Given the description of an element on the screen output the (x, y) to click on. 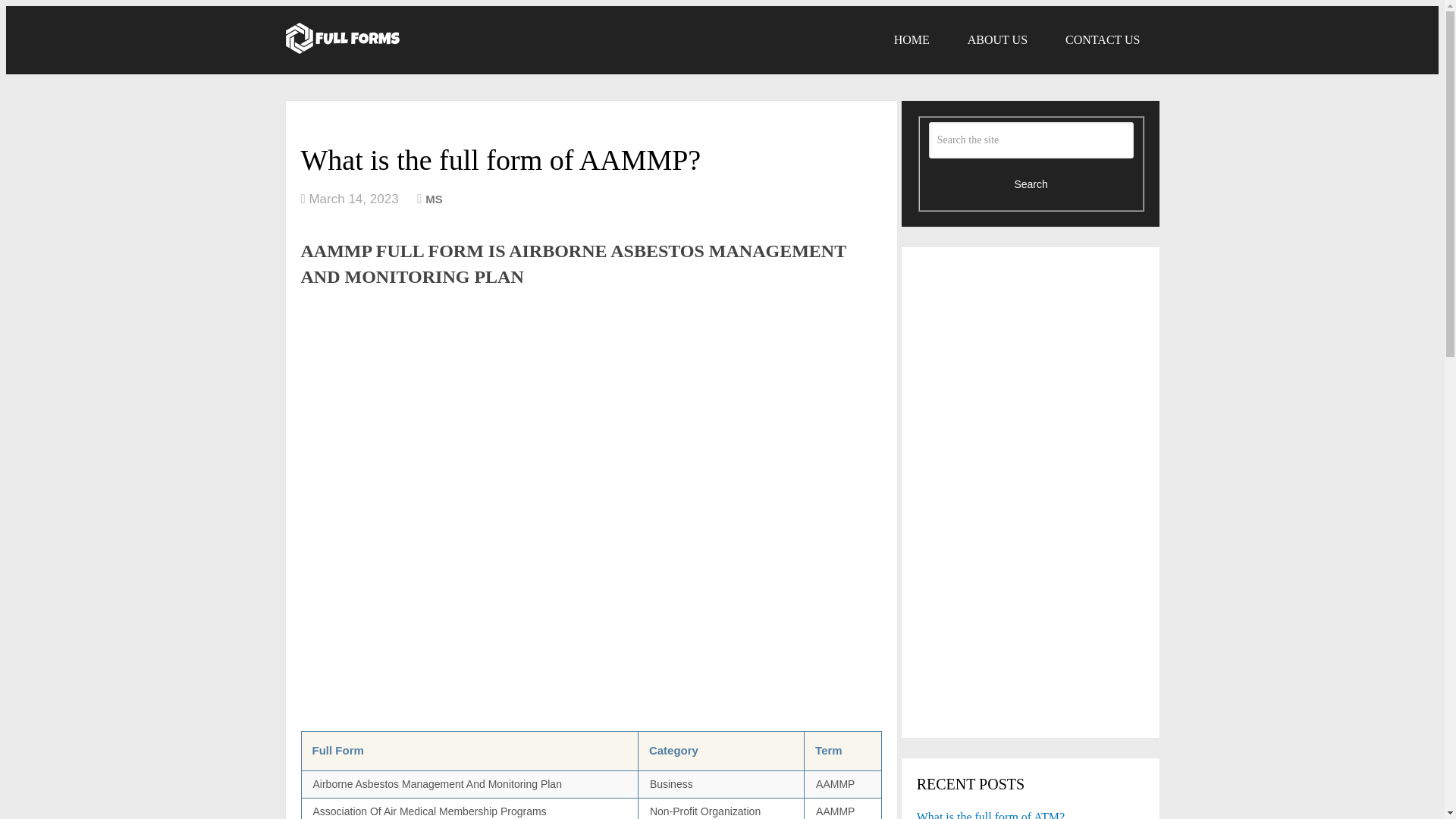
Search (1031, 184)
What is the full form of ATM? (1030, 813)
What is the full form of ATM? (1030, 813)
Advertisement (1029, 611)
ABOUT US (997, 40)
Posts by MS (433, 198)
Advertisement (589, 617)
CONTACT US (1102, 40)
Advertisement (589, 404)
HOME (912, 40)
